Given the description of an element on the screen output the (x, y) to click on. 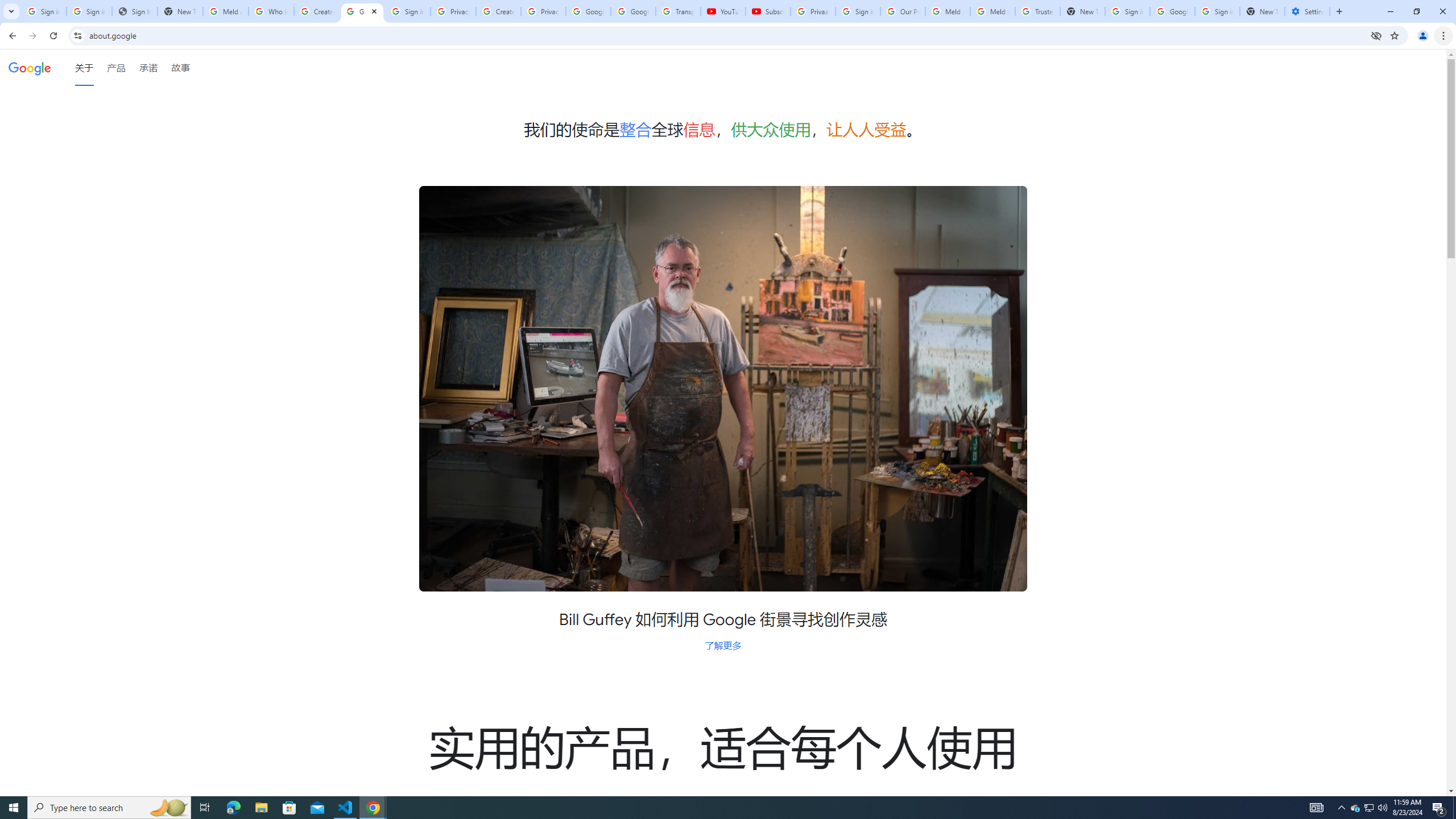
Trusted Information and Content - Google Safety Center (1037, 11)
Sign in - Google Accounts (857, 11)
Sign in - Google Accounts (1216, 11)
Sign in - Google Accounts (407, 11)
Sign In - USA TODAY (134, 11)
